Given the description of an element on the screen output the (x, y) to click on. 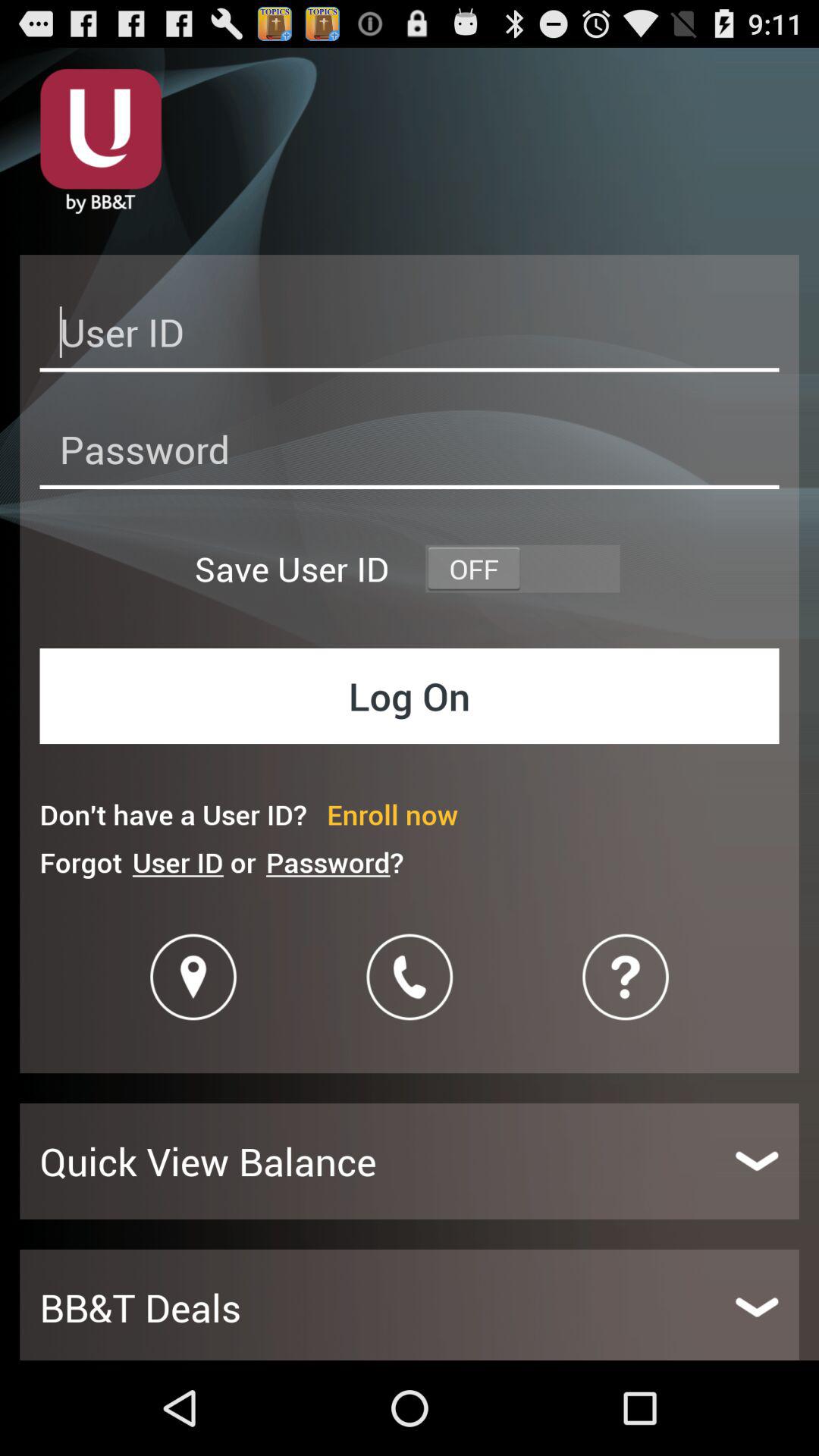
choose the password? item (334, 861)
